Given the description of an element on the screen output the (x, y) to click on. 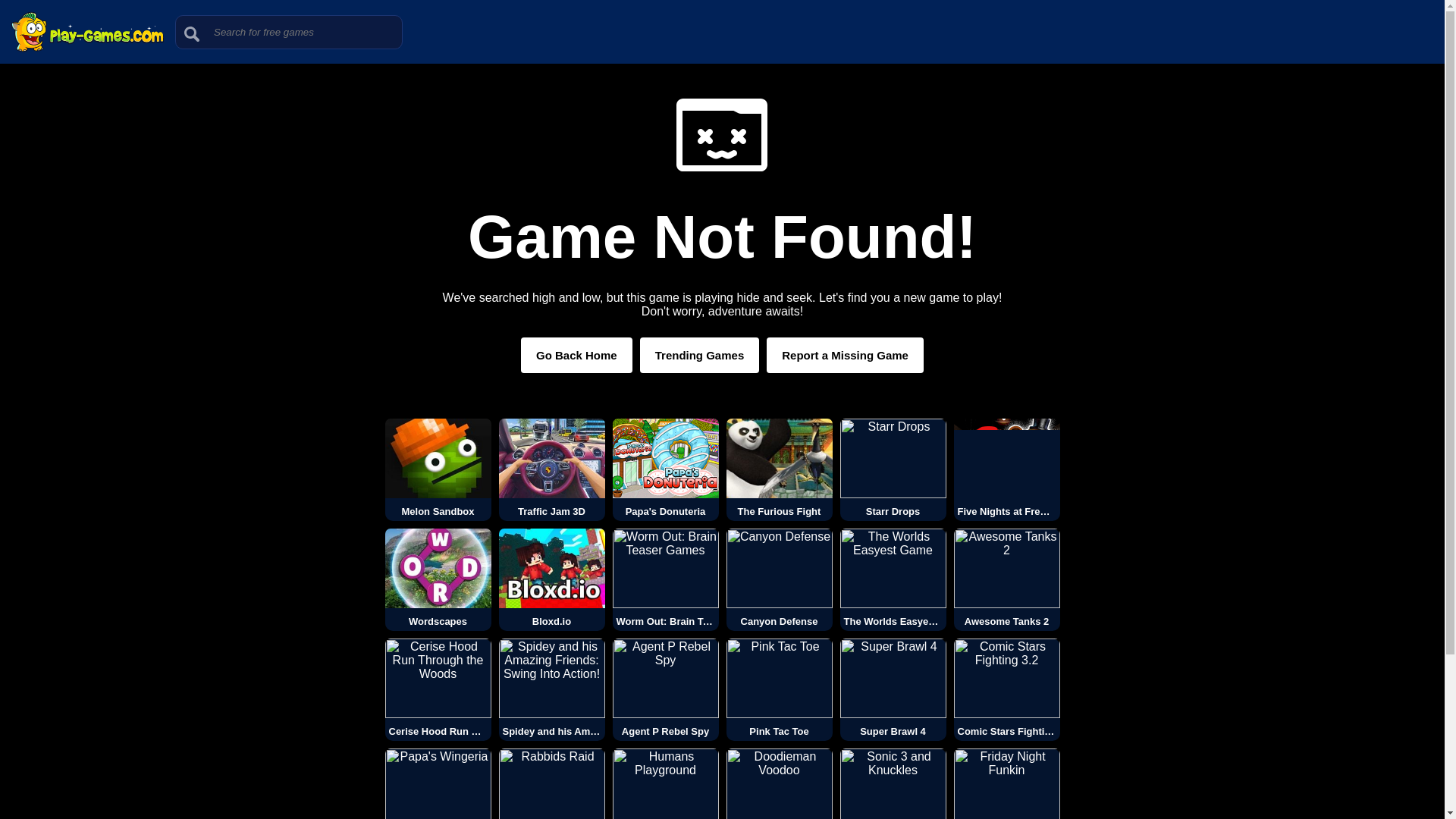
Super Brawl 4 (893, 689)
Starr Drops (893, 469)
Traffic Jam 3D (552, 469)
Trending Games (700, 355)
Five Nights at Freddy's 1 (1006, 469)
Play Games Online (87, 47)
Rabbids Raid (552, 783)
Bloxd.io (552, 579)
Report a Missing Game (845, 355)
Friday Night Funkin (1006, 783)
